Given the description of an element on the screen output the (x, y) to click on. 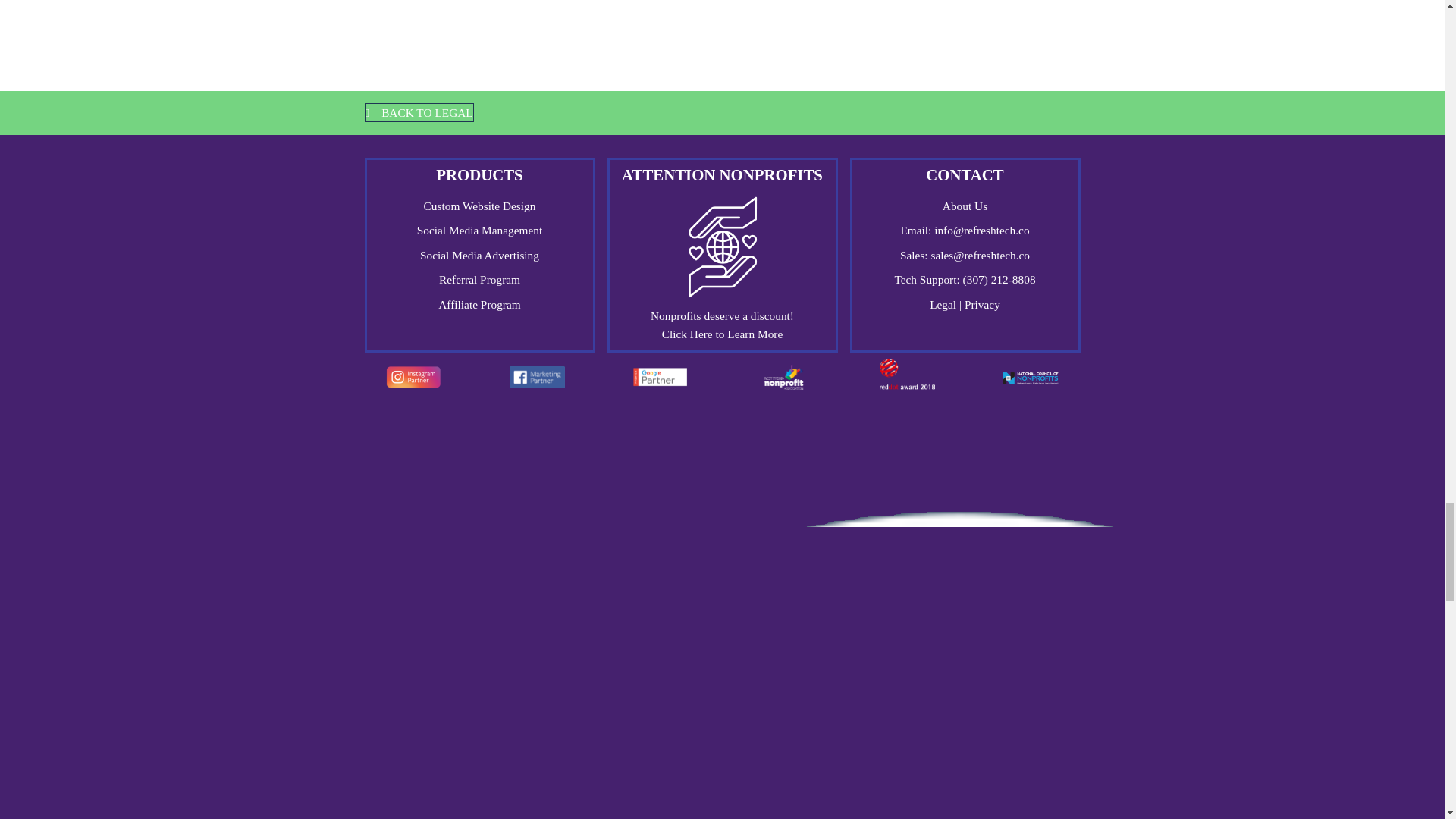
Custom Website Design (479, 205)
Legal  (944, 304)
Privacy (981, 304)
Social Media Management (479, 229)
Affiliate Program (478, 304)
Referral Program (479, 278)
About Us (964, 205)
Social Media Advertising (479, 254)
BACK TO LEGAL (418, 112)
